Given the description of an element on the screen output the (x, y) to click on. 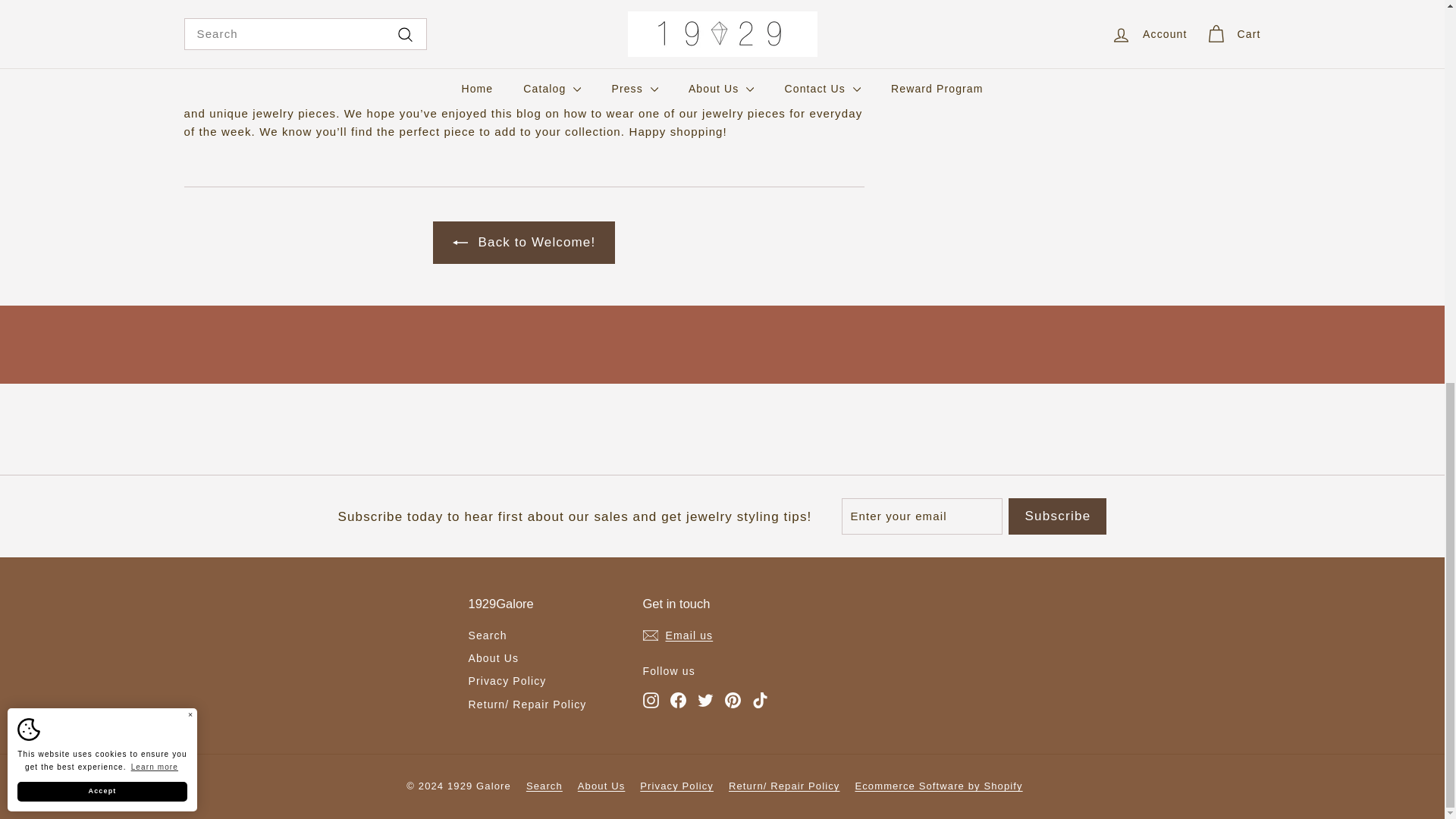
Accept (102, 75)
instagram (651, 700)
1929 Galore on Twitter (705, 700)
twitter (705, 700)
1929 Galore on Instagram (651, 700)
icon-left-arrow (459, 242)
1929 Galore on Facebook (677, 700)
Learn more (154, 51)
